Given the description of an element on the screen output the (x, y) to click on. 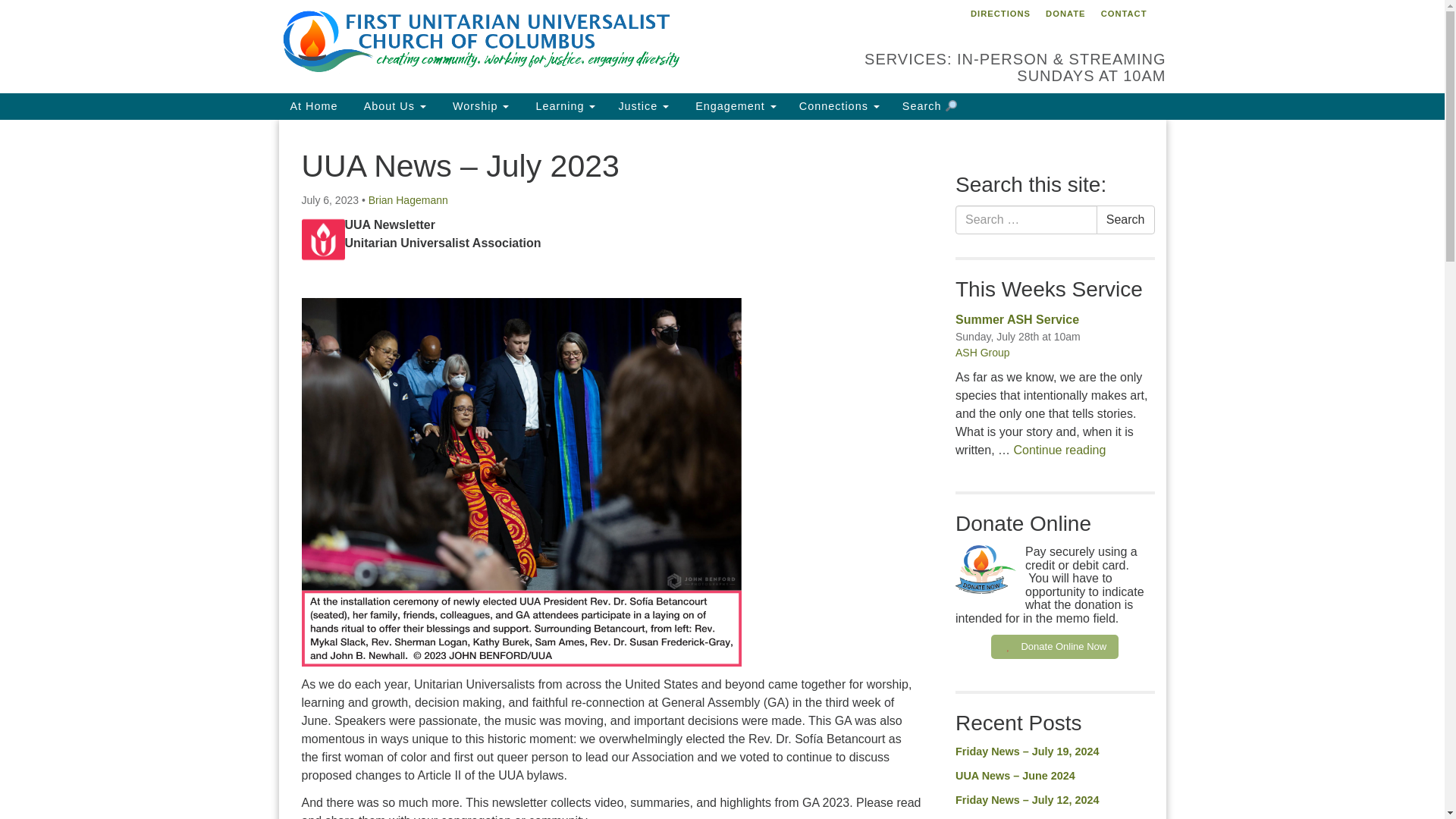
 About Us (392, 106)
DONATE (1065, 13)
About Us (392, 106)
 Worship (479, 106)
At Home (314, 106)
DIRECTIONS (1000, 13)
 Learning (563, 106)
CONTACT (1124, 13)
At Home (314, 106)
